Given the description of an element on the screen output the (x, y) to click on. 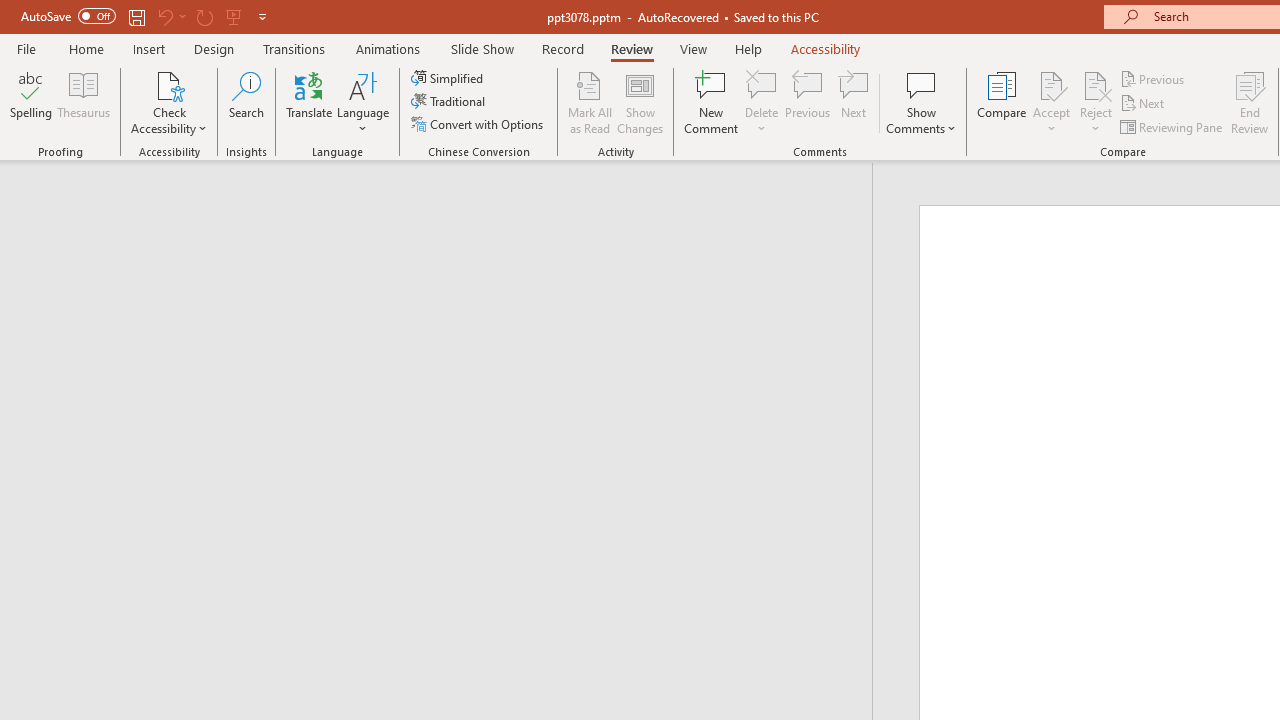
Compare (1002, 102)
Mark All as Read (589, 102)
Reject Change (1096, 84)
End Review (1249, 102)
Accept (1051, 102)
Show Changes (639, 102)
Language (363, 102)
